Given the description of an element on the screen output the (x, y) to click on. 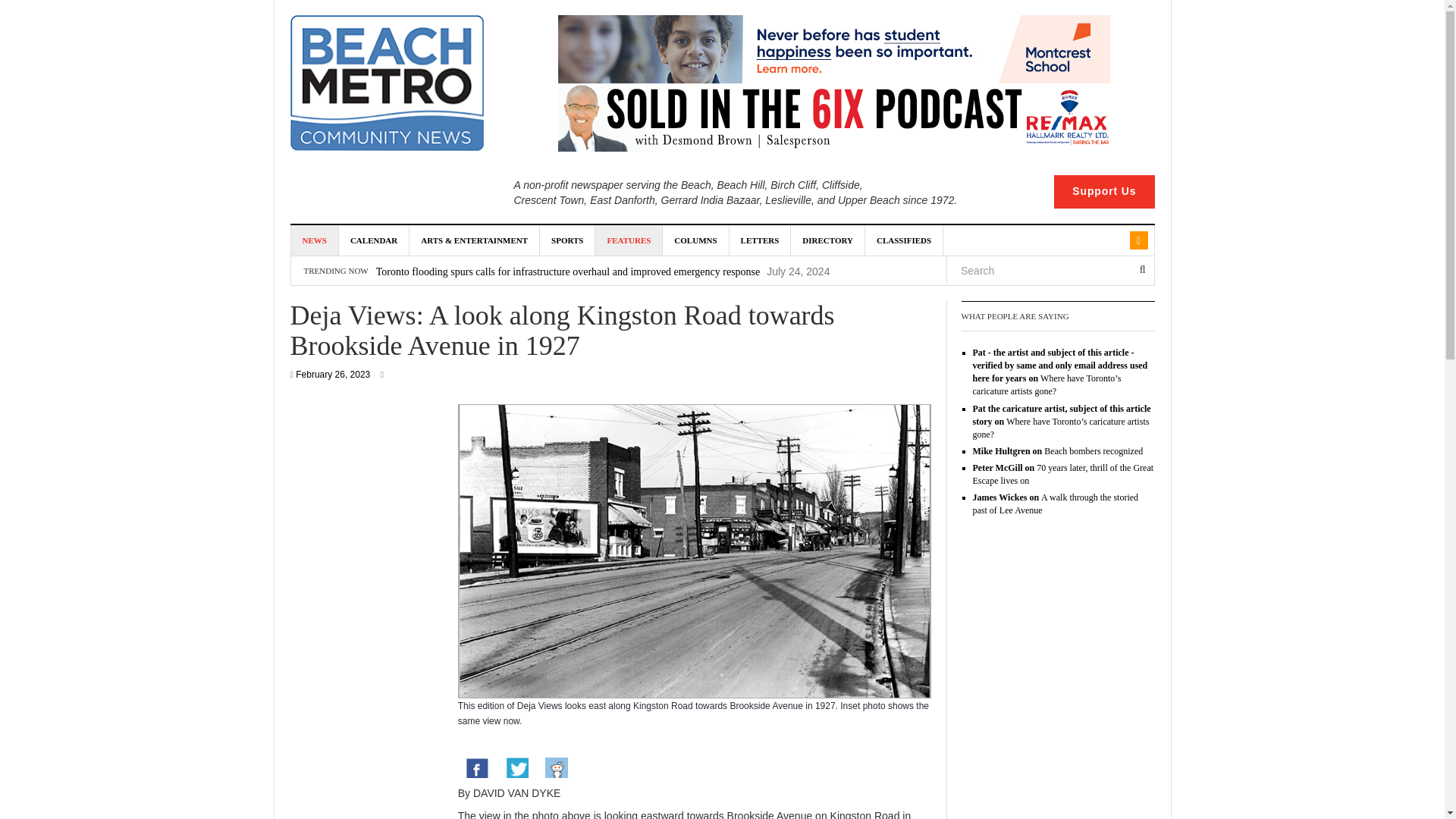
CALENDAR (374, 240)
Support Us (1104, 191)
Share On Reddit (556, 768)
Support Us (1104, 191)
NEWS (315, 240)
COLUMNS (695, 240)
Share On Twitter (516, 768)
SPORTS (567, 240)
Moncrest School (833, 49)
Share On Facebook (477, 768)
FEATURES (628, 240)
SOLD IN THE 6IX PODCAST (833, 117)
Beach Metro Community News (386, 82)
